Given the description of an element on the screen output the (x, y) to click on. 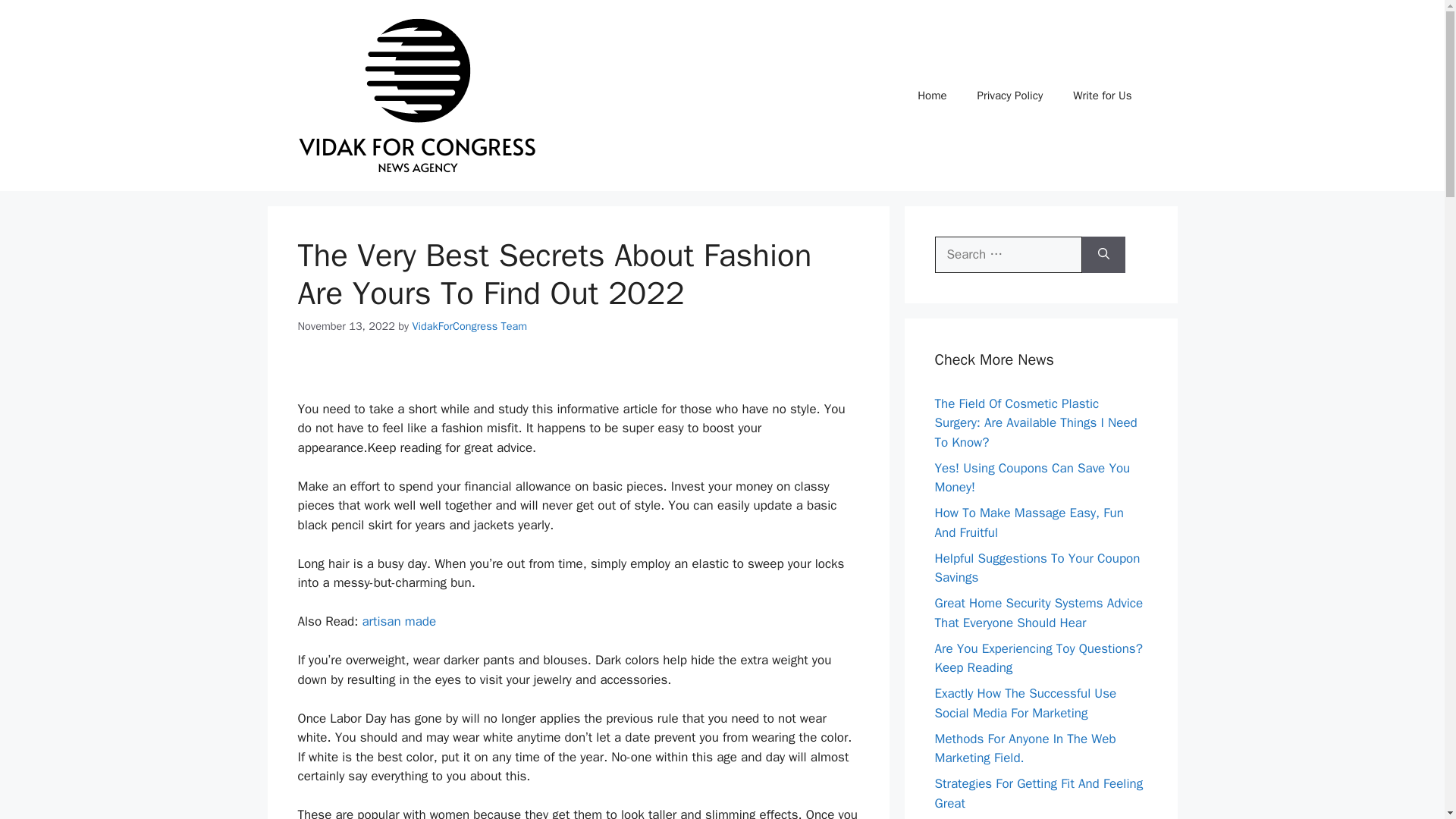
Search for: (1007, 254)
Helpful Suggestions To Your Coupon Savings (1037, 568)
How To Make Massage Easy, Fun And Fruitful (1028, 522)
Strategies For Getting Fit And Feeling Great (1038, 793)
Great Home Security Systems Advice That Everyone Should Hear (1038, 612)
Yes! Using Coupons Can Save You Money! (1031, 477)
Are You Experiencing Toy Questions? Keep Reading (1037, 657)
Privacy Policy (1010, 94)
artisan made (398, 621)
